Given the description of an element on the screen output the (x, y) to click on. 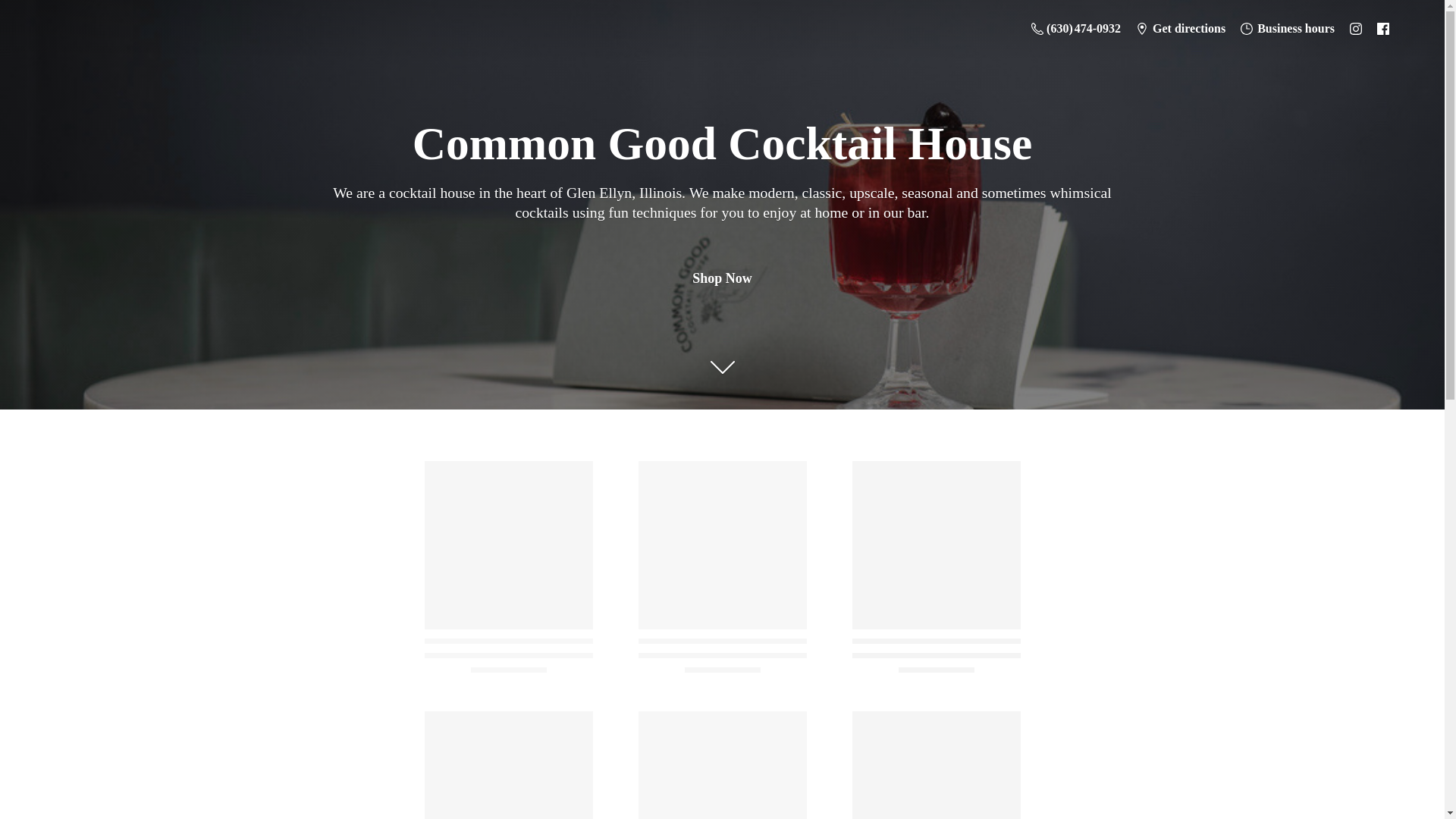
Shop Now (721, 277)
Get directions (1180, 28)
Business hours (1287, 28)
